Given the description of an element on the screen output the (x, y) to click on. 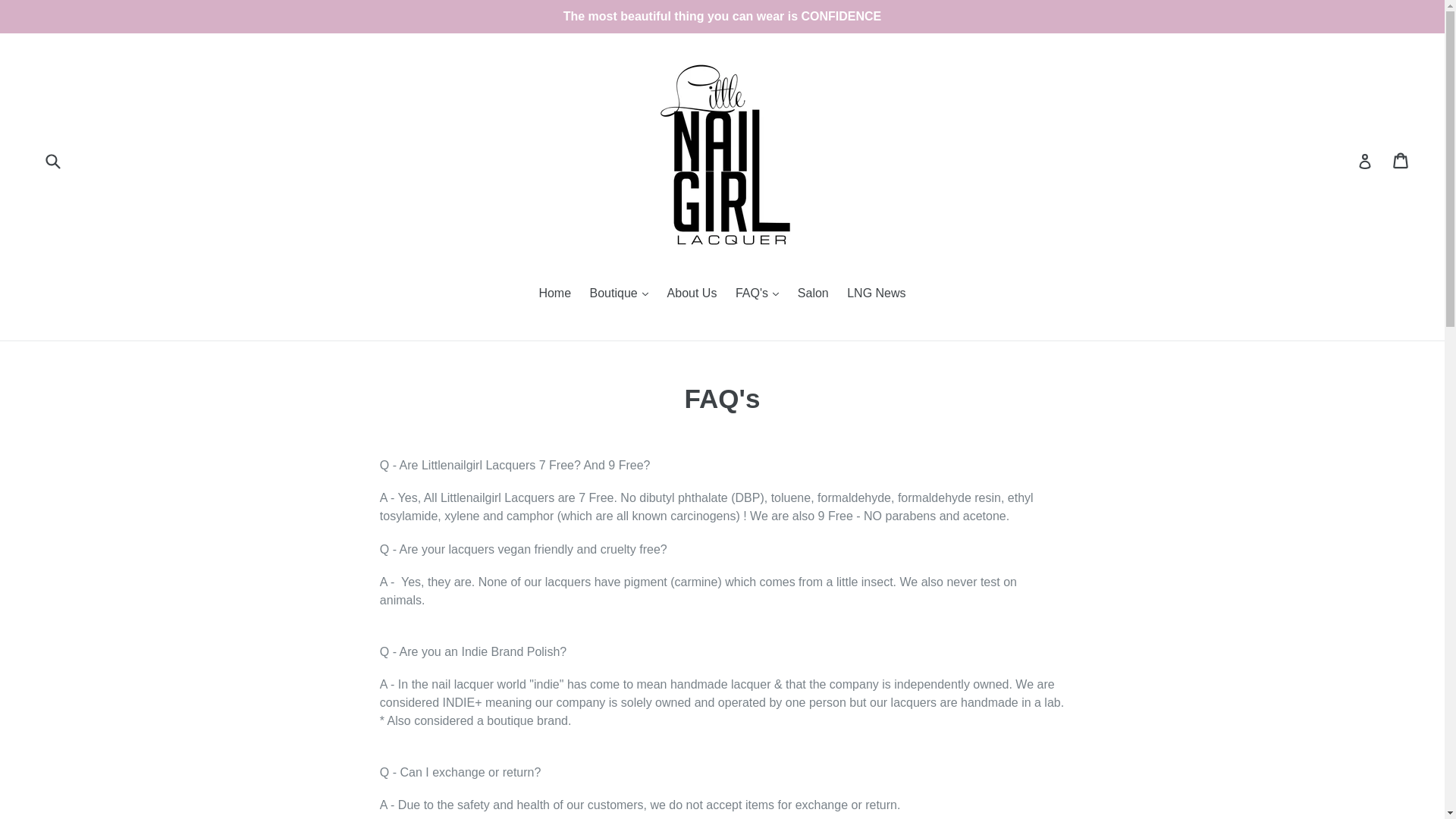
About Us (692, 294)
Home (554, 294)
